Given the description of an element on the screen output the (x, y) to click on. 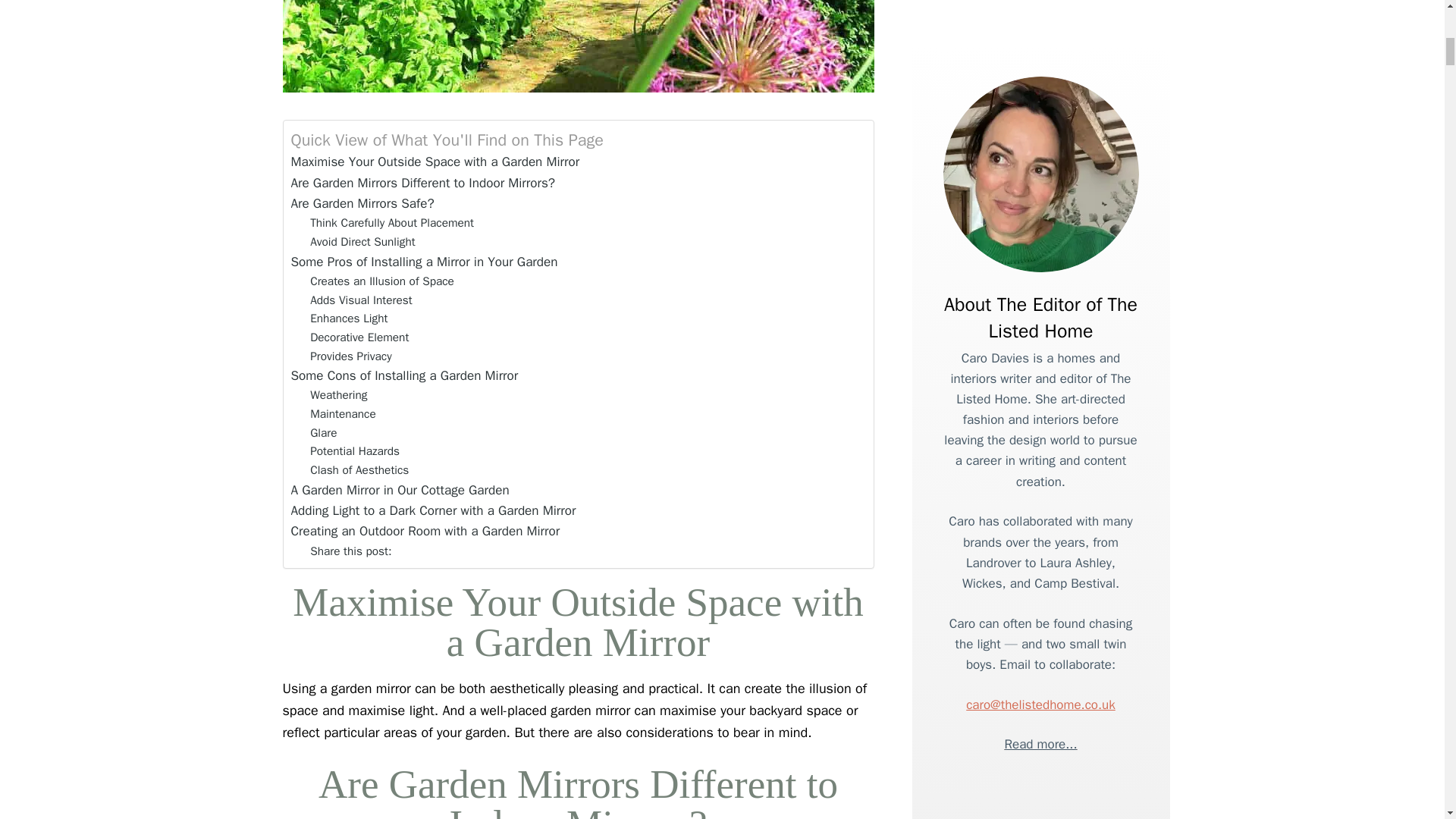
Are Garden Mirrors Safe? (362, 203)
Think Carefully About Placement (392, 222)
Avoid Direct Sunlight (362, 241)
Are Garden Mirrors Different to Indoor Mirrors? (423, 182)
Maximise Your Outside Space with a Garden Mirror (435, 161)
